Given the description of an element on the screen output the (x, y) to click on. 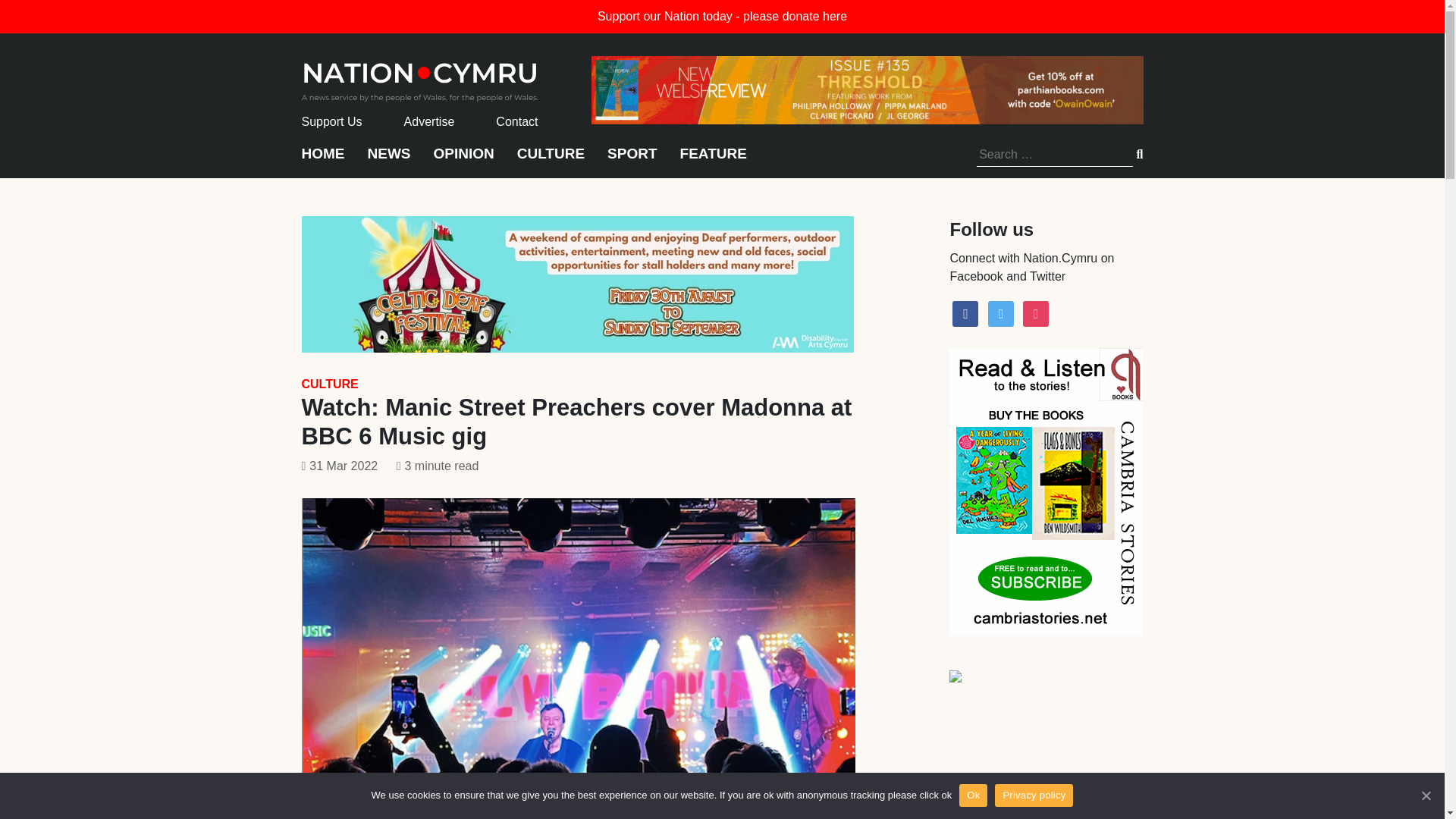
Support Us (331, 121)
HOME (323, 160)
CULTURE (329, 383)
home (419, 77)
CULTURE (550, 160)
SPORT (631, 160)
Advertise (429, 121)
Contact (516, 121)
NEWS (388, 160)
FEATURE (712, 160)
OPINION (464, 160)
